Given the description of an element on the screen output the (x, y) to click on. 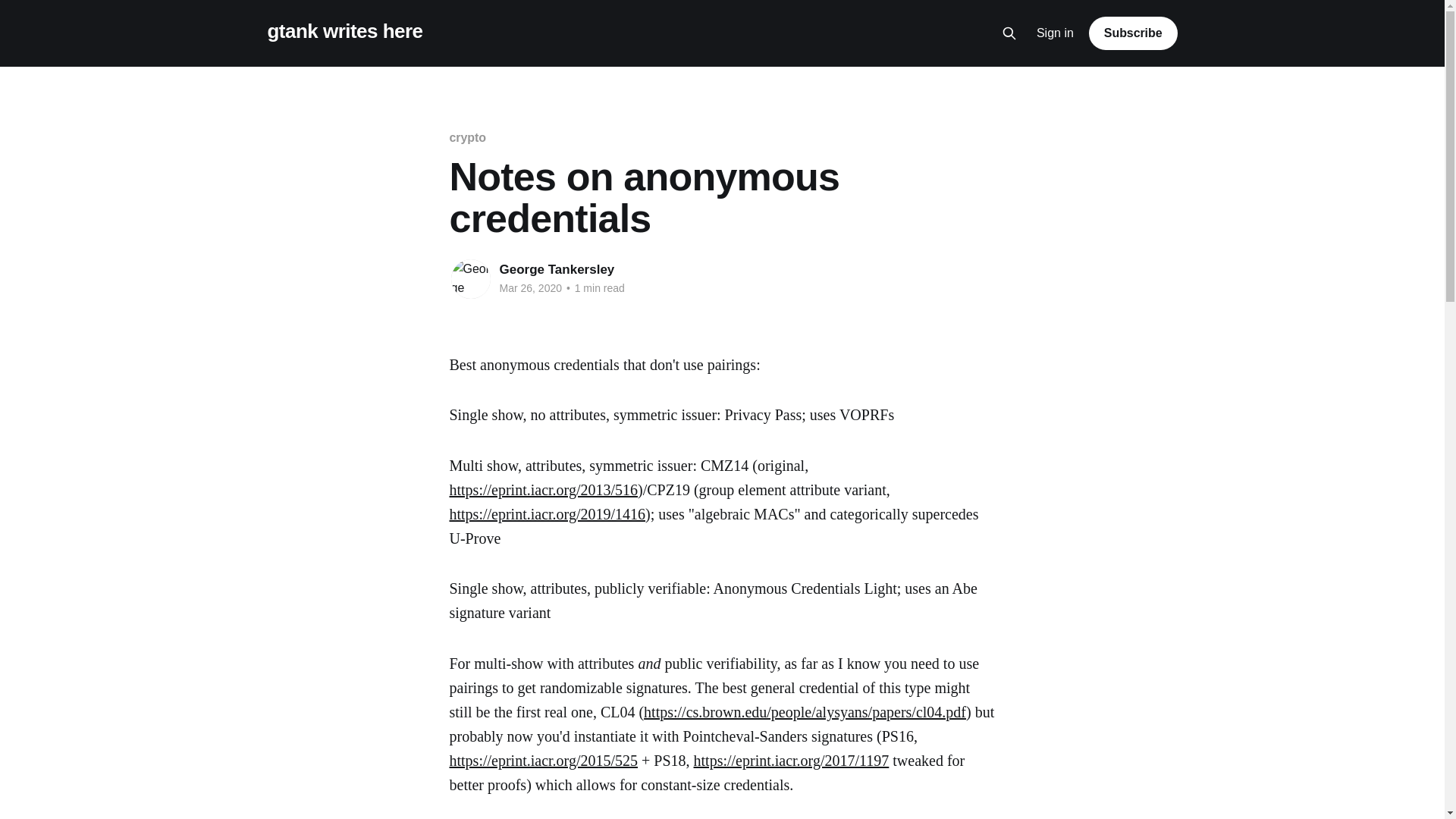
https://eprint.iacr.org/2019/1416 Element type: text (546, 513)
Subscribe Element type: text (1132, 33)
crypto Element type: text (466, 137)
Sign in Element type: text (1054, 33)
https://eprint.iacr.org/2013/516 Element type: text (542, 489)
George Tankersley Element type: text (556, 269)
https://eprint.iacr.org/2017/1197 Element type: text (791, 760)
gtank writes here Element type: text (344, 31)
https://eprint.iacr.org/2015/525 Element type: text (542, 760)
https://cs.brown.edu/people/alysyans/papers/cl04.pdf Element type: text (804, 711)
